Given the description of an element on the screen output the (x, y) to click on. 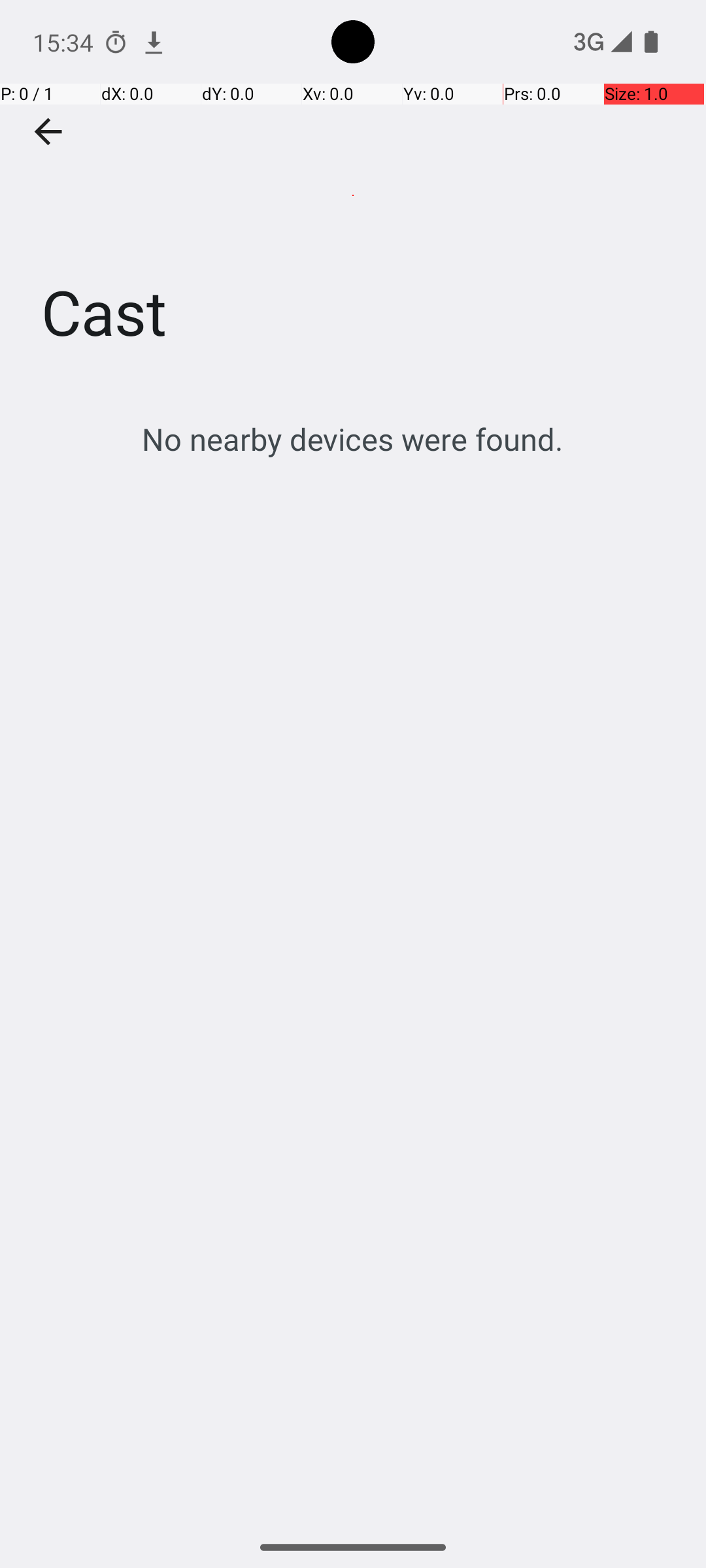
Cast Element type: android.widget.FrameLayout (353, 195)
No nearby devices were found. Element type: android.widget.TextView (352, 438)
